Given the description of an element on the screen output the (x, y) to click on. 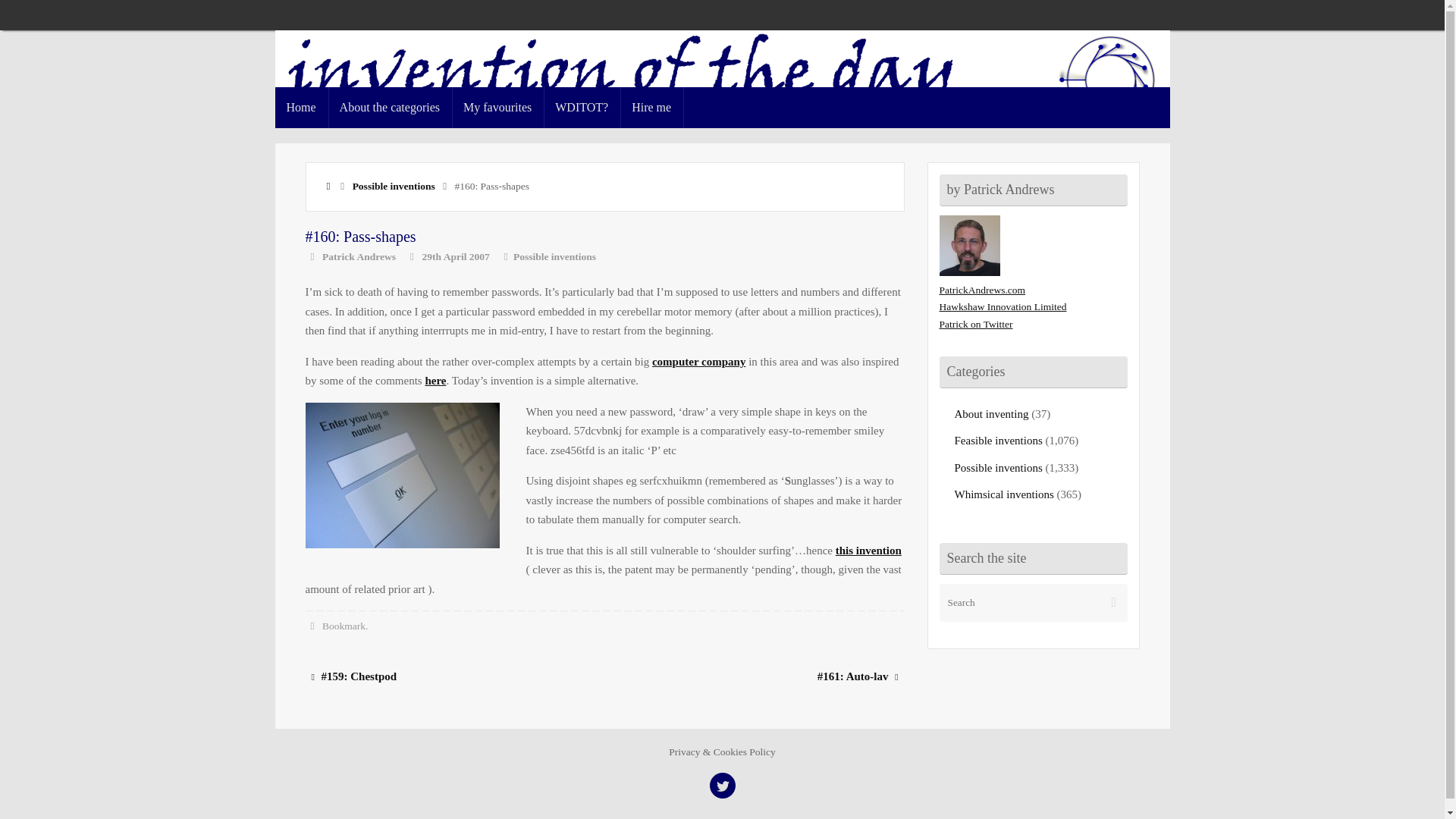
Patrick Andrews (358, 256)
29th April 2007 (455, 256)
Possible inventions (554, 256)
Possible inventions (393, 185)
PatrickAndrews.com (982, 289)
View all posts by Patrick Andrews (358, 256)
Whimsical inventions (1002, 494)
Patrick on Twitter (975, 324)
Shape passwords (698, 361)
Lifehacker passwords (435, 380)
